Given the description of an element on the screen output the (x, y) to click on. 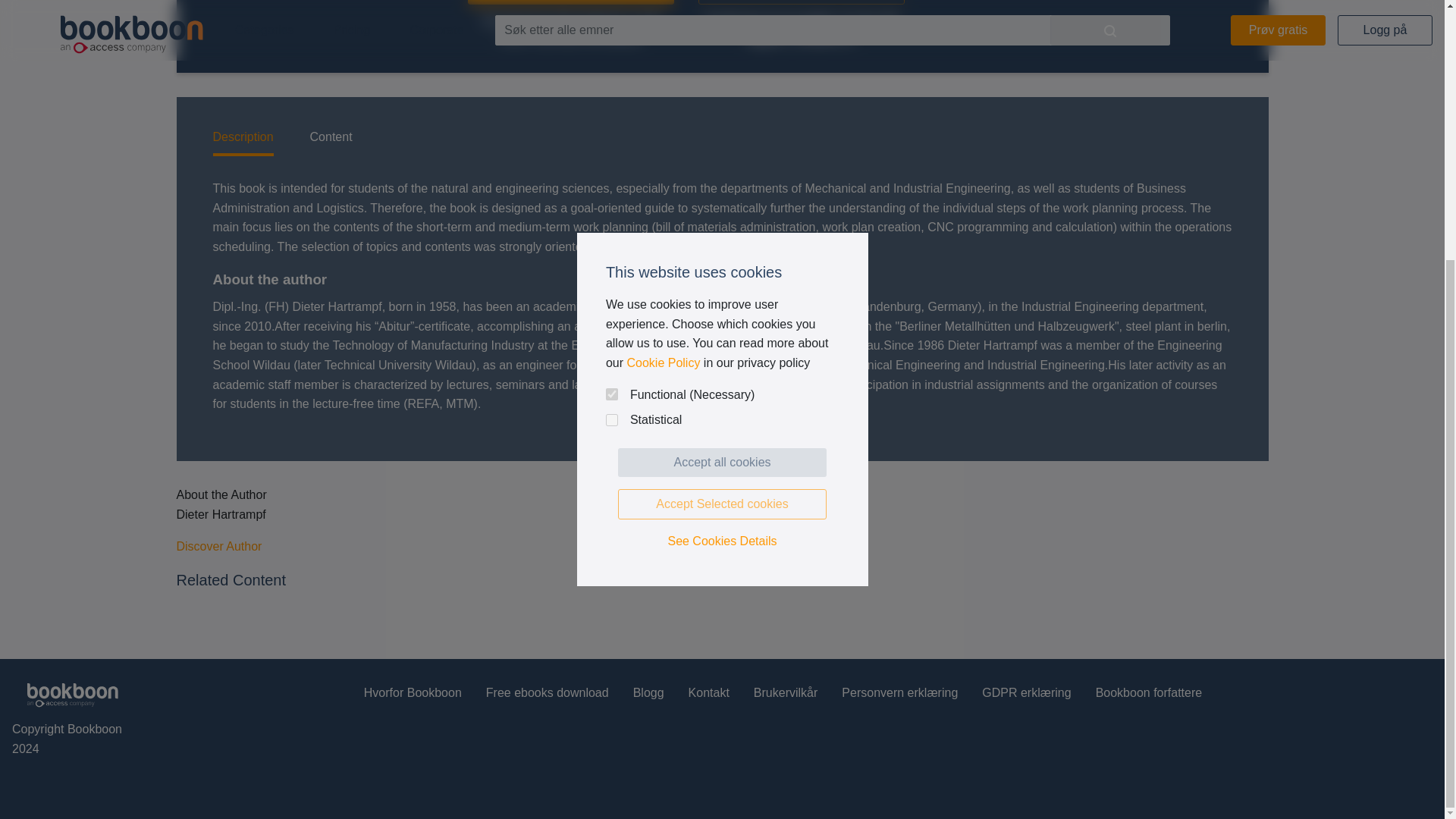
Accept all cookies (722, 90)
Accept Selected cookies (722, 132)
STATISTICAL (611, 47)
See Cookies Details (722, 168)
FUNCTIONAL (611, 21)
